Given the description of an element on the screen output the (x, y) to click on. 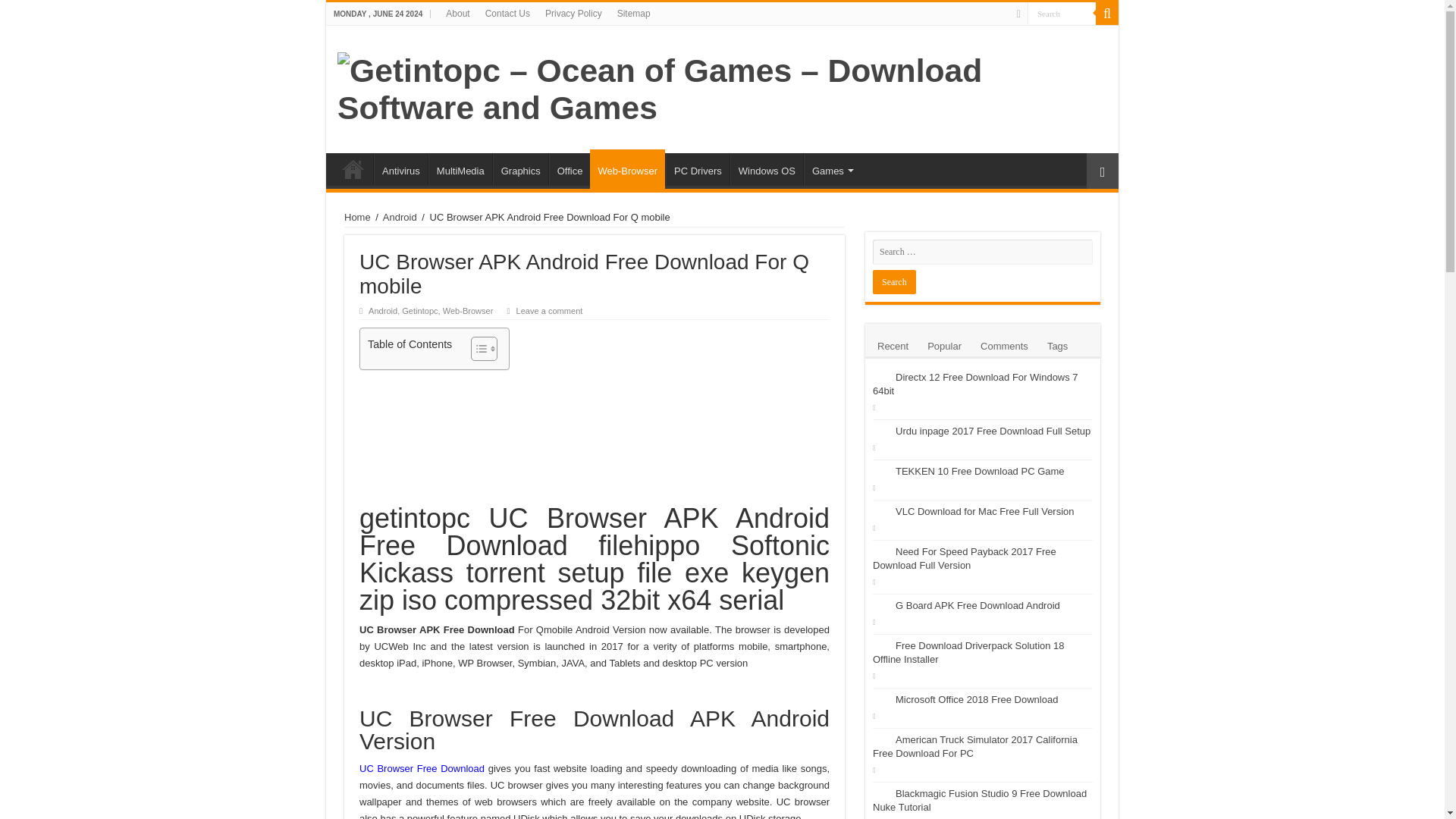
Contact Us (507, 13)
Leave a comment (549, 310)
About (457, 13)
Antivirus (401, 169)
Graphics (520, 169)
Web-Browser (467, 310)
Random Article (1102, 171)
Search (1061, 13)
Games (831, 169)
Windows OS (766, 169)
Privacy Policy (573, 13)
Home (352, 169)
PC Drivers (697, 169)
Office (569, 169)
Sitemap (634, 13)
